Given the description of an element on the screen output the (x, y) to click on. 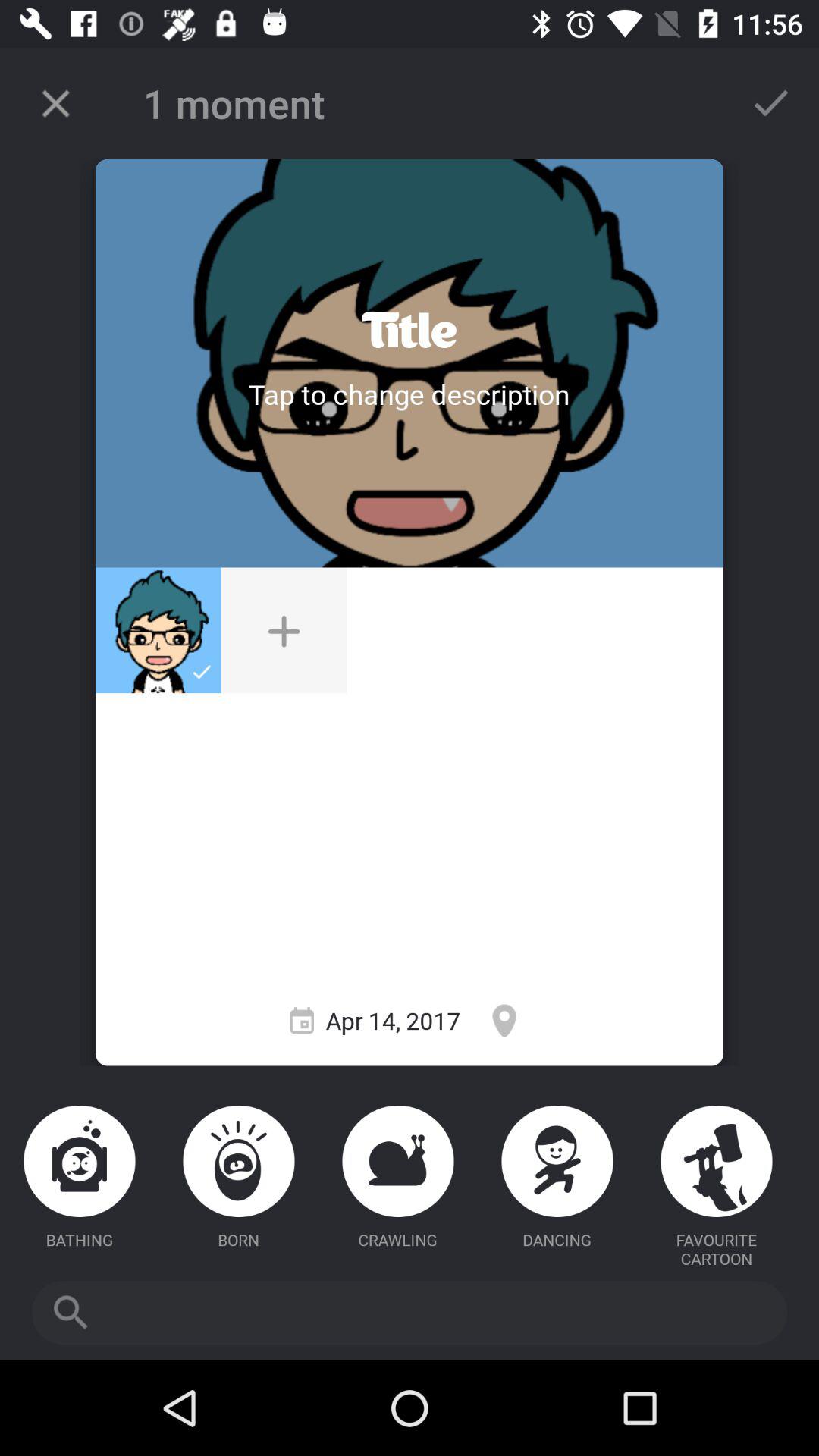
searching box (409, 1312)
